Given the description of an element on the screen output the (x, y) to click on. 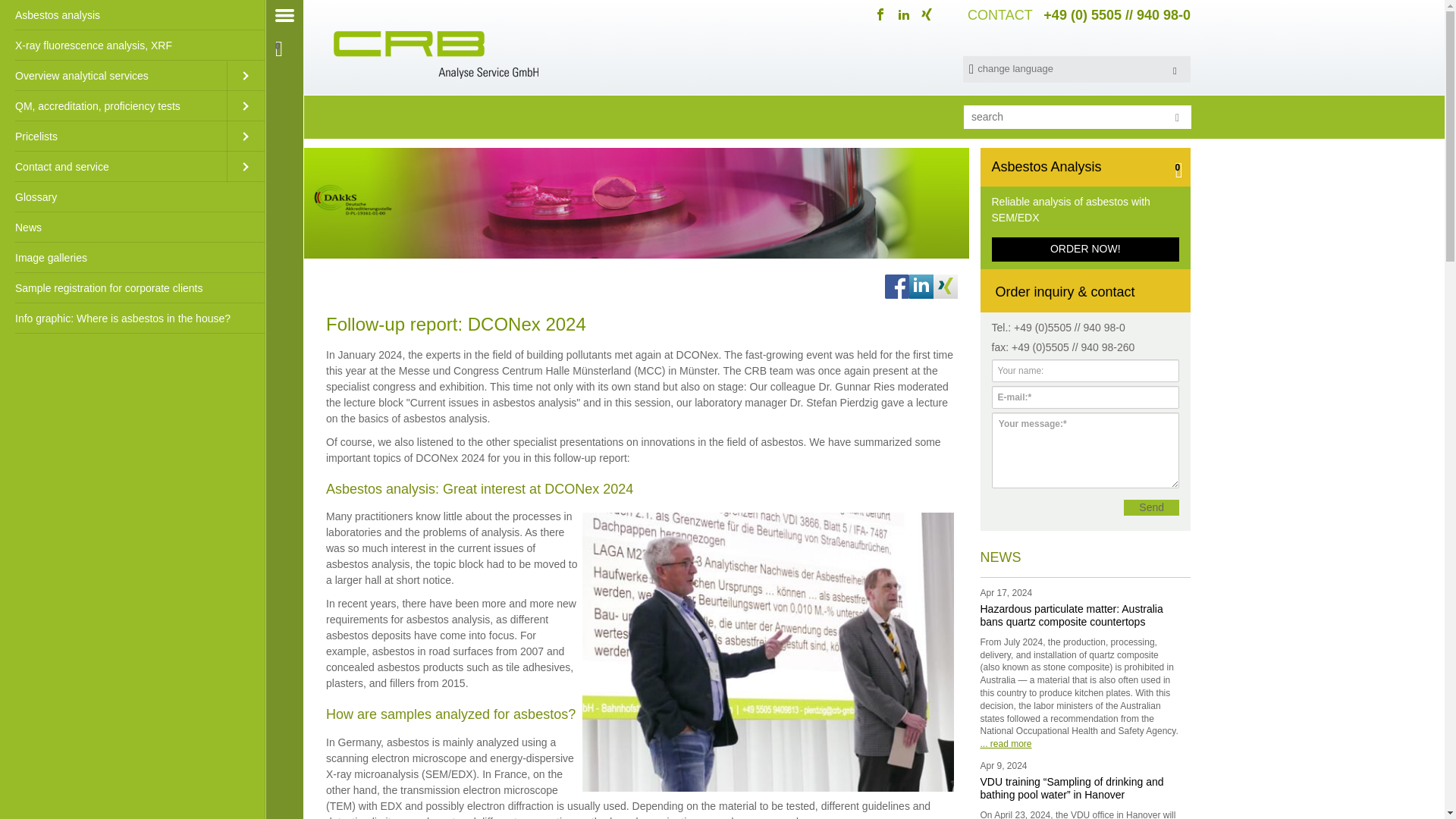
Overview analytical services (113, 75)
X-ray fluorescence analysis, XRF (132, 45)
Overview analytical services (113, 75)
QM, accreditation, proficiency tests (113, 105)
QM, accreditation, proficiency tests (113, 105)
Pricelists (113, 136)
Contact and service (113, 166)
Asbestos analysis (132, 15)
